Given the description of an element on the screen output the (x, y) to click on. 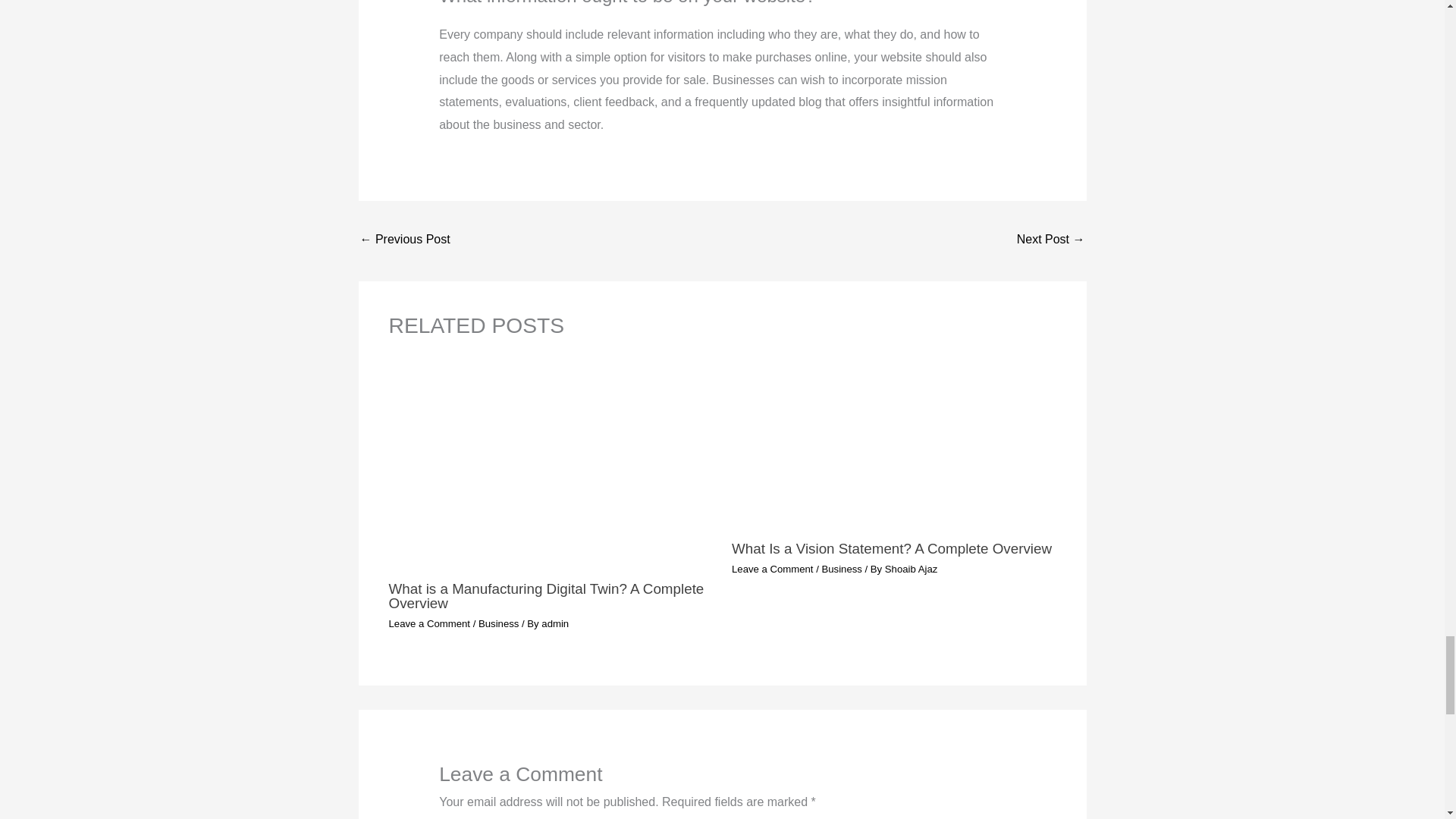
What is a Manufacturing Digital Twin? A Complete Overview (545, 595)
Leave a Comment (772, 568)
Leave a Comment (429, 623)
What Is Agile Scrum Methodology? (404, 240)
View all posts by Shoaib Ajaz (911, 568)
What Is a Vision Statement? A Complete Overview (891, 548)
View all posts by admin (555, 623)
How to Do a Competitive Analysis (1050, 240)
Business (498, 623)
admin (555, 623)
